Given the description of an element on the screen output the (x, y) to click on. 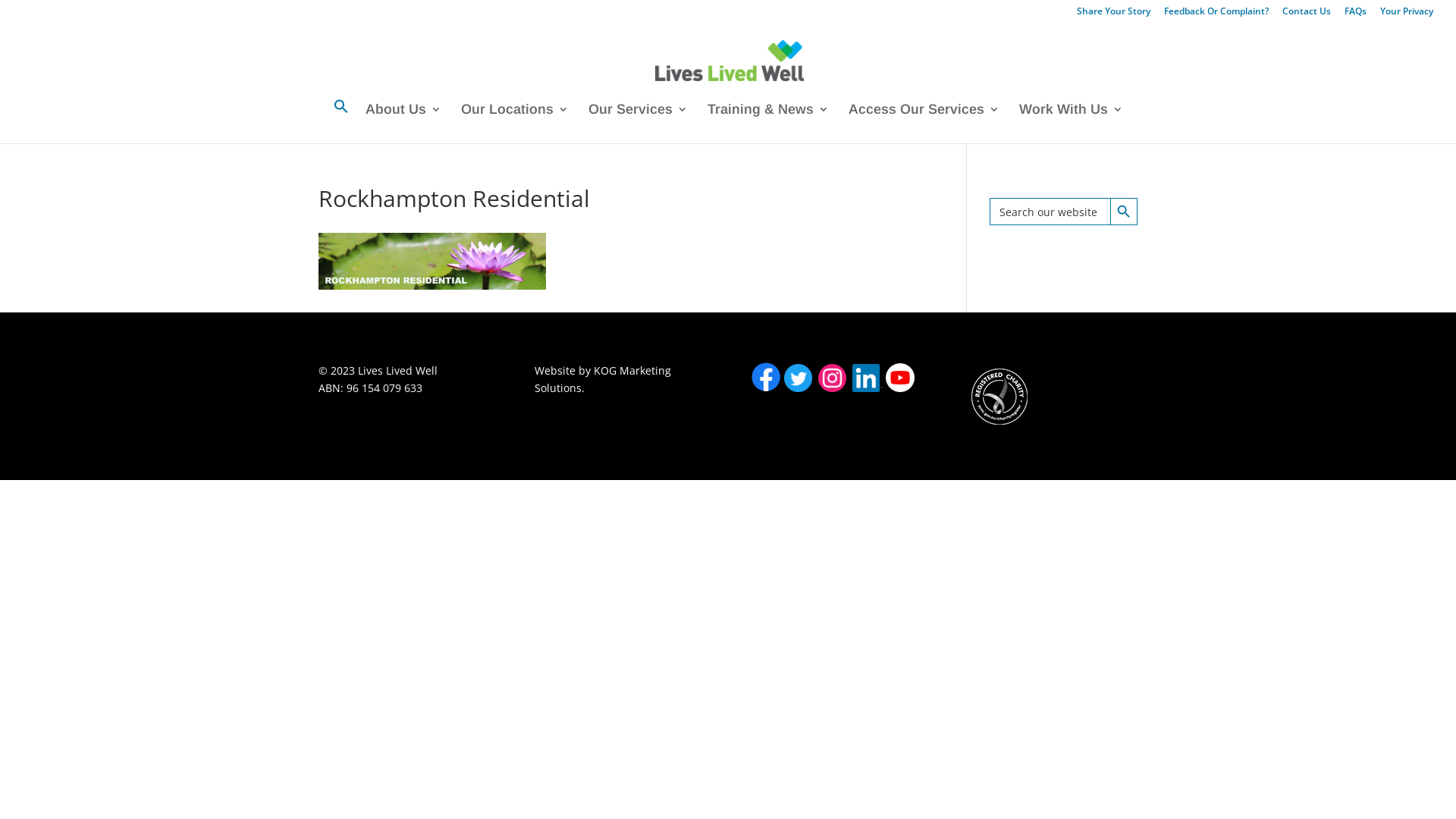
Training & News Element type: text (767, 122)
Feedback Or Complaint? Element type: text (1216, 14)
Access Our Services Element type: text (922, 122)
Your Privacy Element type: text (1406, 14)
Contact Us Element type: text (1306, 14)
FAQs Element type: text (1355, 14)
Search Button Element type: text (1123, 211)
KOG Marketing Solutions Element type: text (602, 379)
Our Services Element type: text (637, 122)
Work With Us Element type: text (1071, 122)
Our Locations Element type: text (514, 122)
Share Your Story Element type: text (1113, 14)
About Us Element type: text (403, 122)
